Given the description of an element on the screen output the (x, y) to click on. 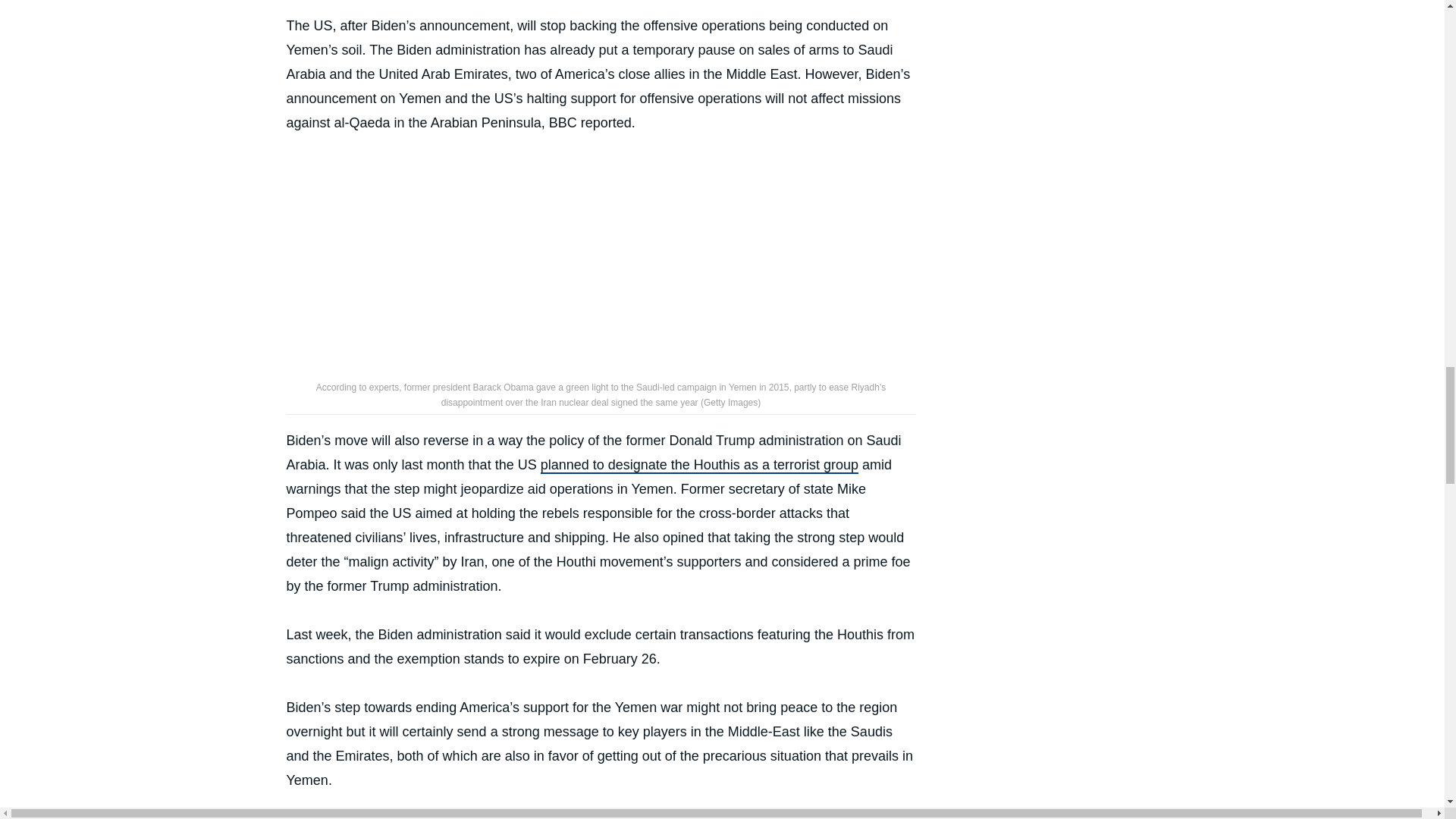
planned to designate the Houthis as a terrorist group (699, 465)
